Given the description of an element on the screen output the (x, y) to click on. 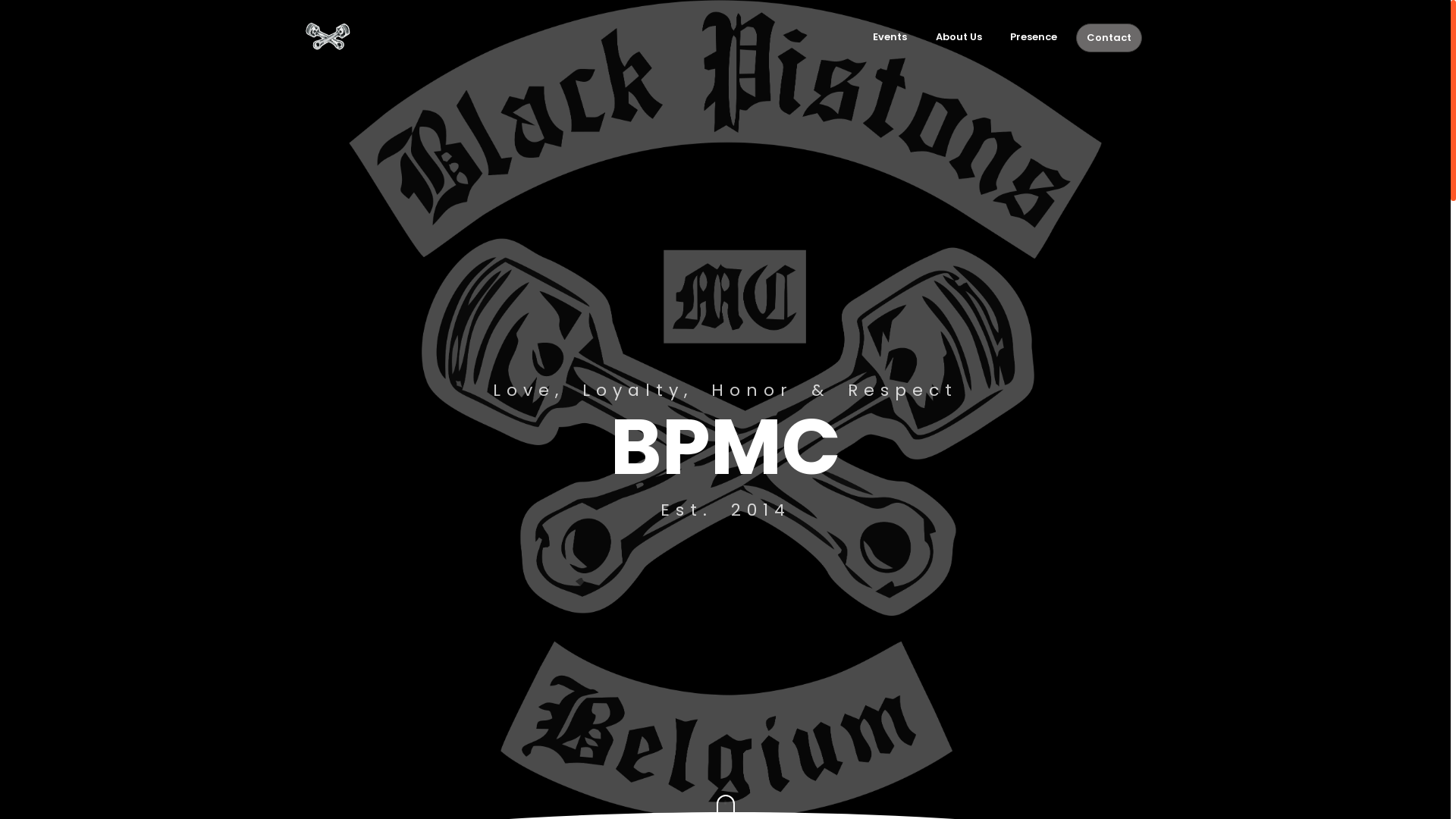
About Us Element type: text (958, 36)
Contact Element type: text (1109, 37)
Presence Element type: text (1033, 36)
Events Element type: text (889, 36)
